Given the description of an element on the screen output the (x, y) to click on. 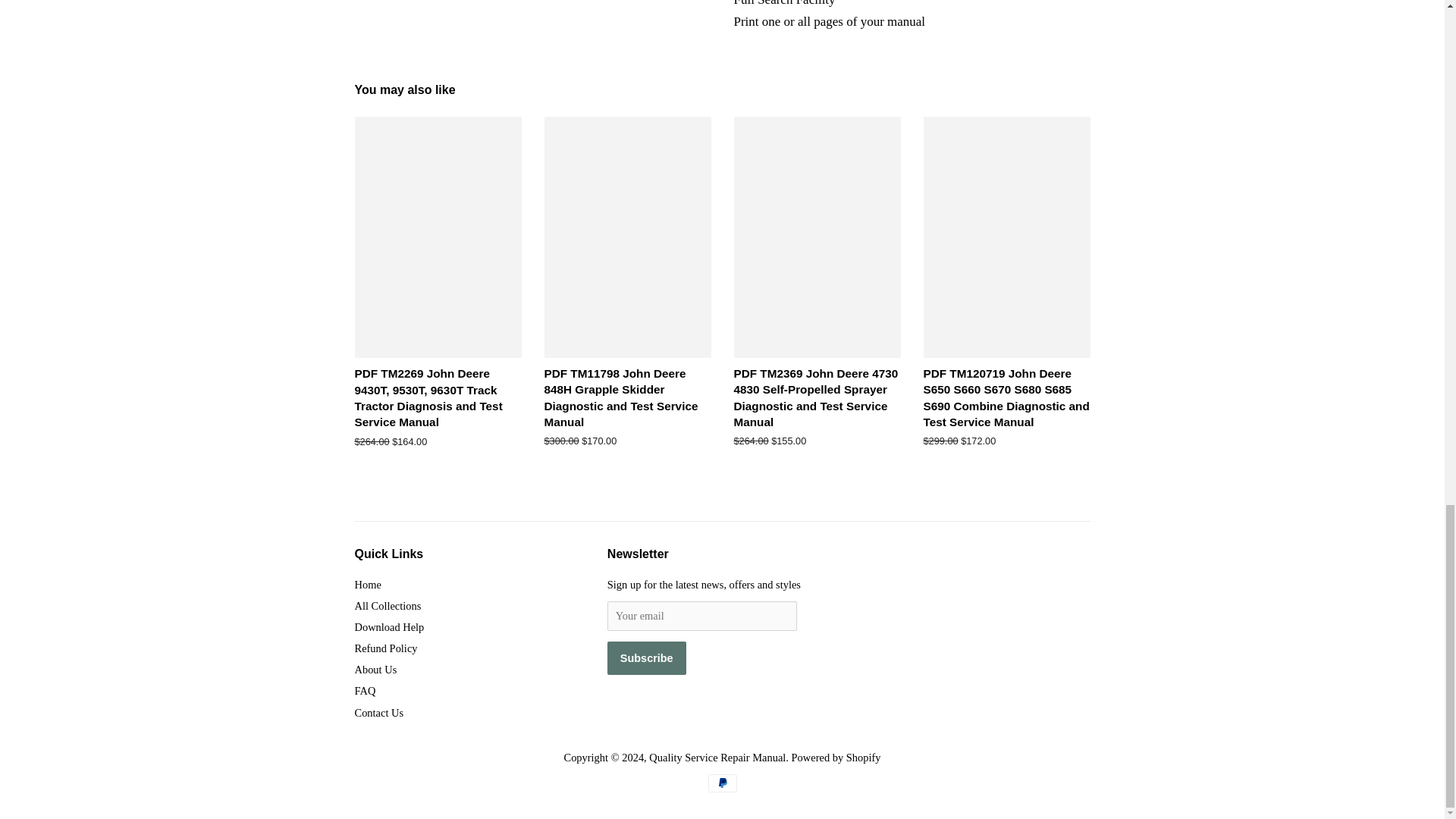
About Us (376, 669)
FAQ (365, 690)
Subscribe (646, 657)
All Collections (388, 605)
Contact Us (379, 712)
Download Help (390, 626)
Home (368, 584)
Refund Policy (386, 648)
Subscribe (646, 657)
PayPal (721, 782)
